Given the description of an element on the screen output the (x, y) to click on. 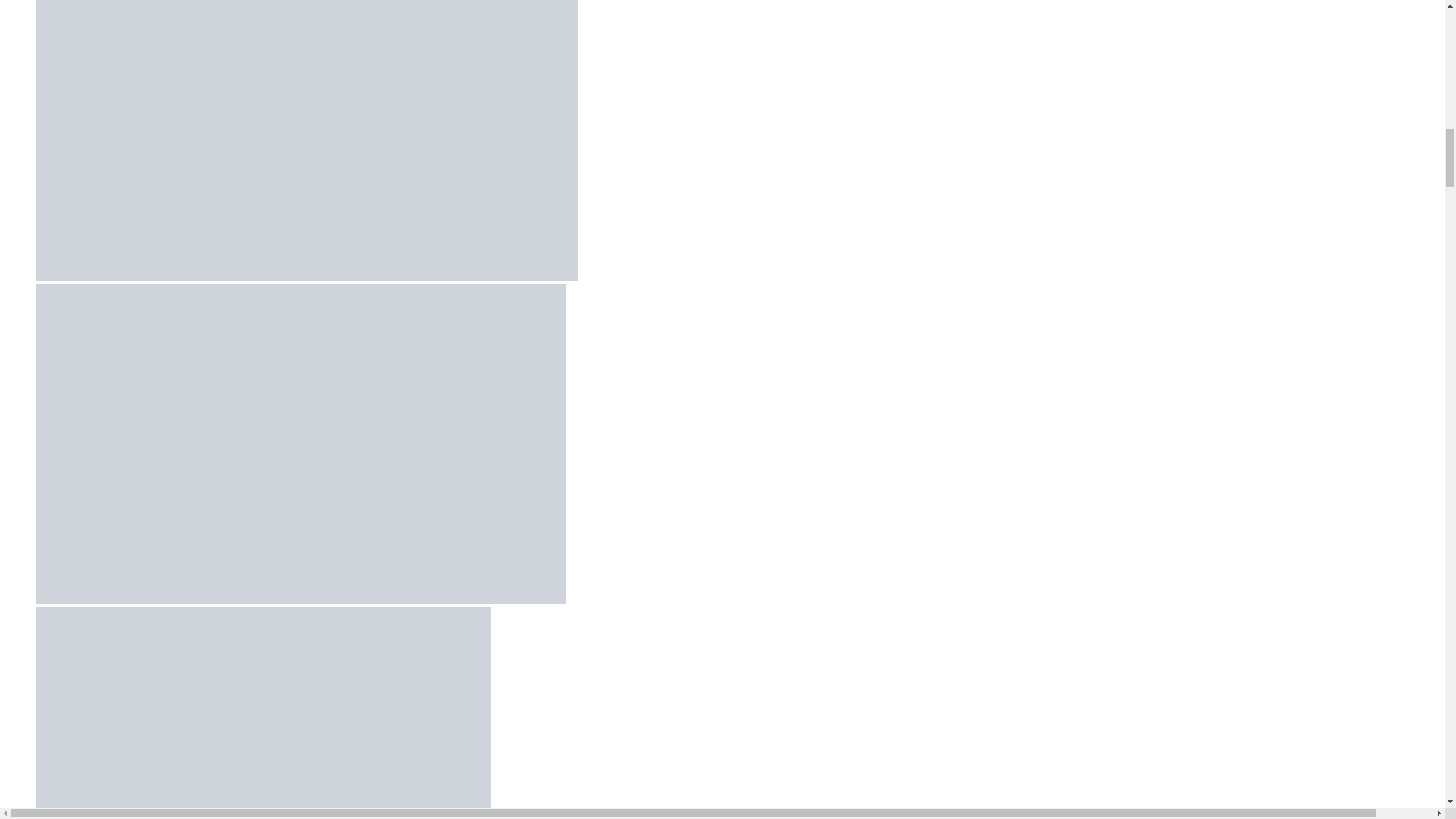
WhatsApp Image 2022-08-28 at 9.22.29 PM (264, 712)
